Given the description of an element on the screen output the (x, y) to click on. 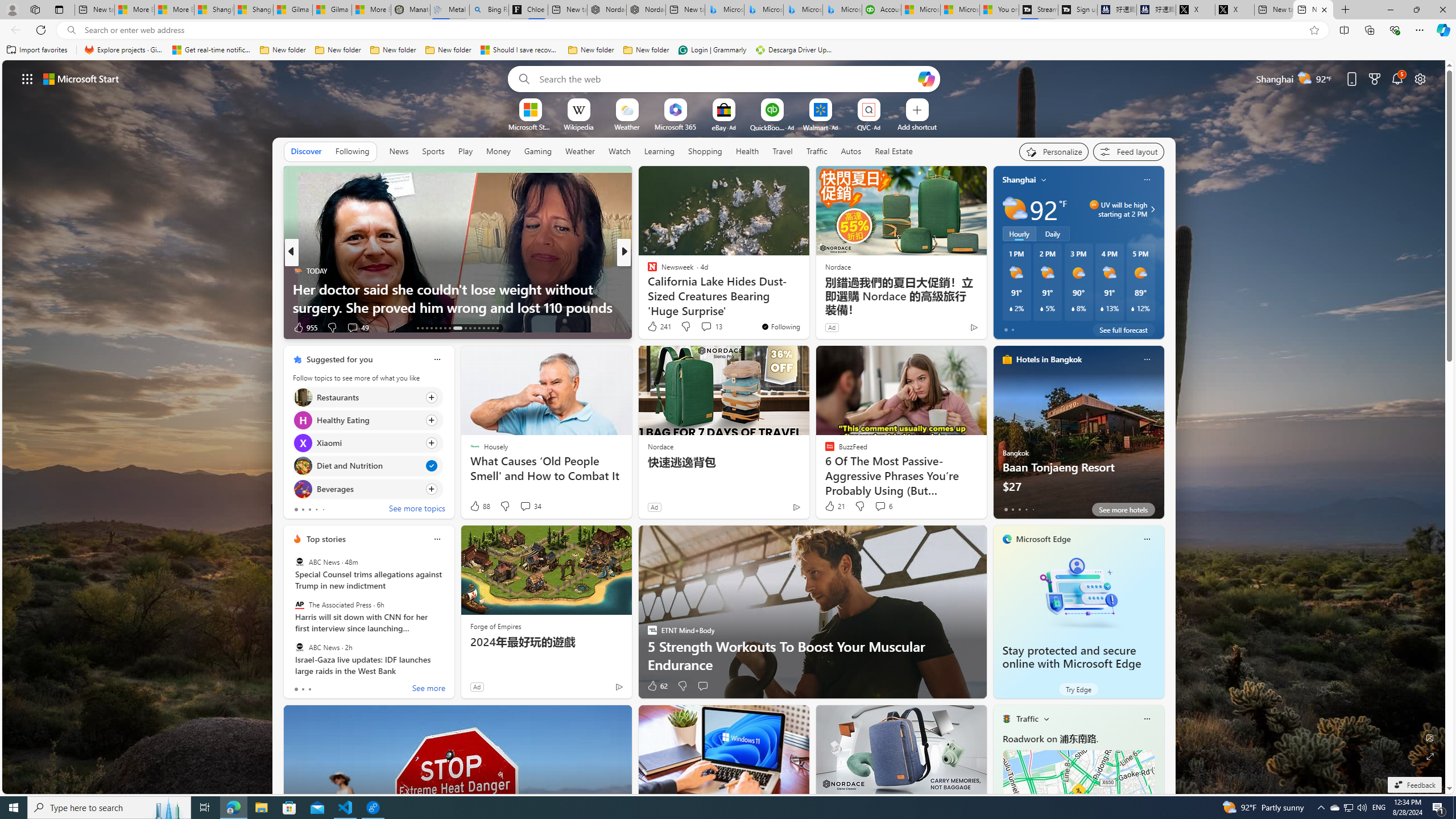
View comments 13 Comment (705, 326)
ETNT Mind+Body (647, 270)
16 Phrases That Can Make You Sound Less Smart (807, 307)
News (398, 151)
AutomationID: tab-16 (431, 328)
Play (465, 151)
hotels-header-icon (1006, 358)
Enter your search term (726, 78)
View comments 6 Comment (879, 505)
View comments 6 Comment (882, 505)
